Given the description of an element on the screen output the (x, y) to click on. 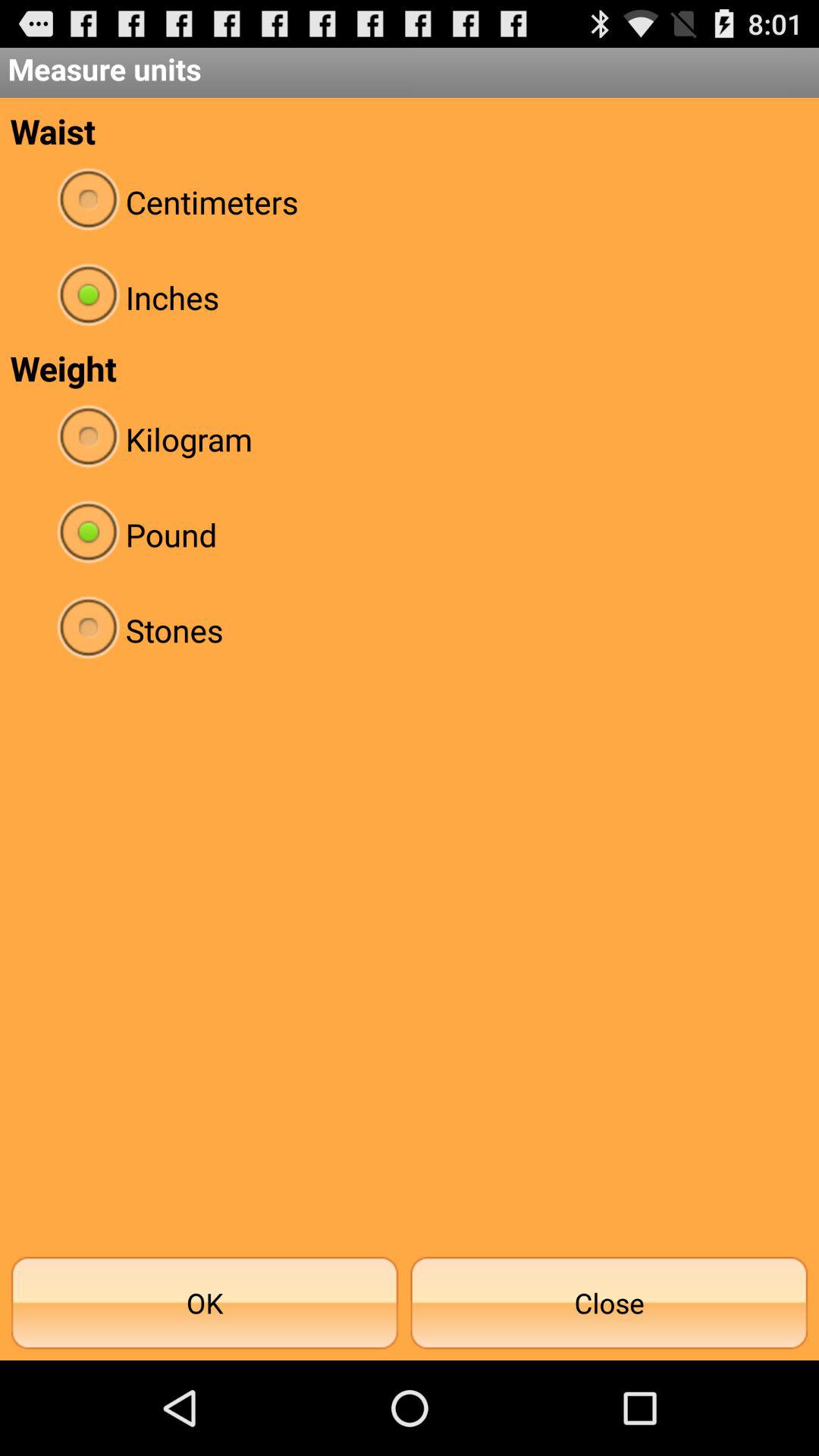
launch pound item (409, 534)
